Given the description of an element on the screen output the (x, y) to click on. 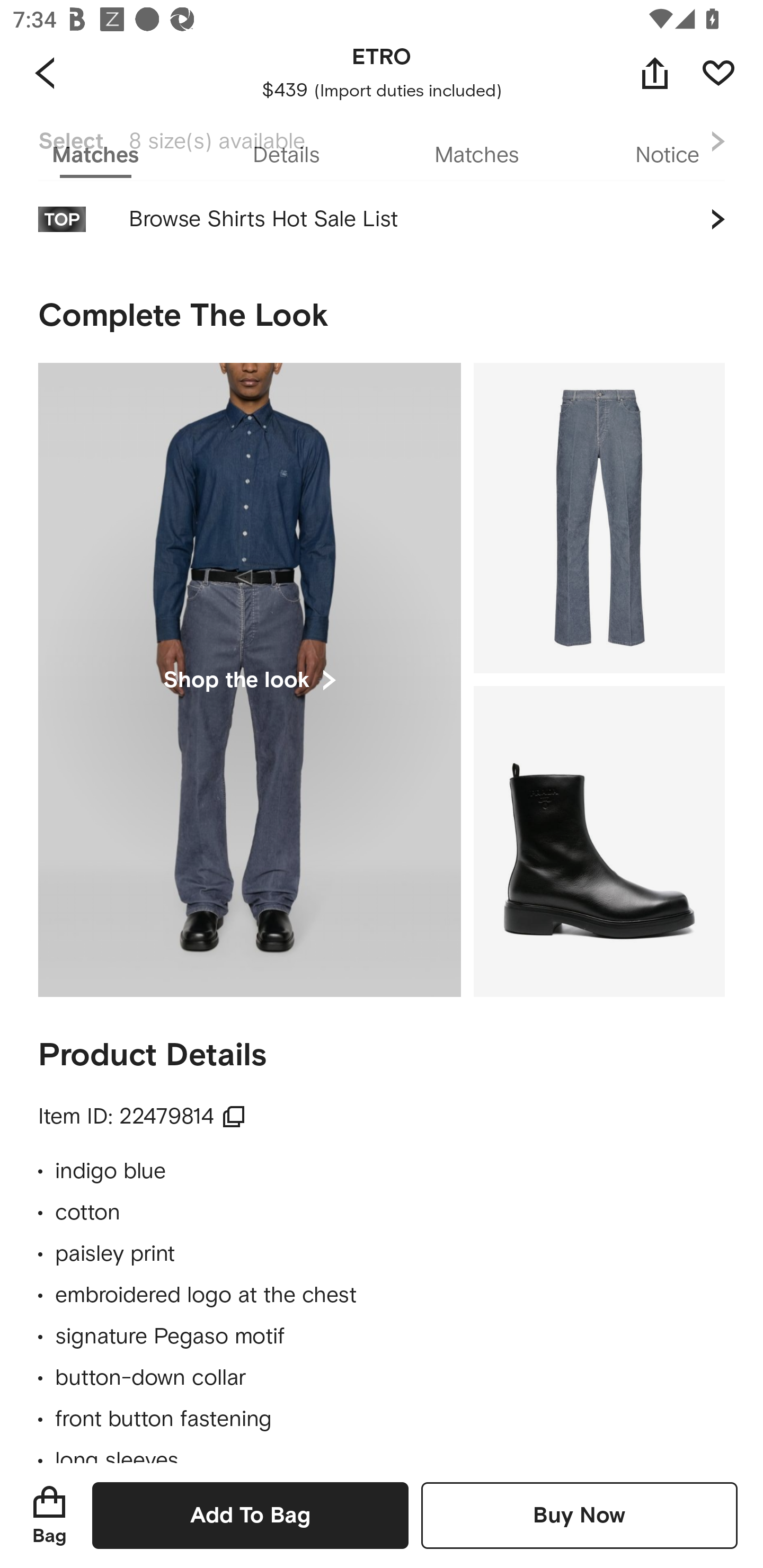
Details (285, 155)
Matches (476, 155)
Notice (667, 155)
Browse Shirts Hot Sale List (381, 230)
Item ID: 22479814 (142, 1117)
Bag (49, 1515)
Add To Bag (250, 1515)
Buy Now (579, 1515)
